Given the description of an element on the screen output the (x, y) to click on. 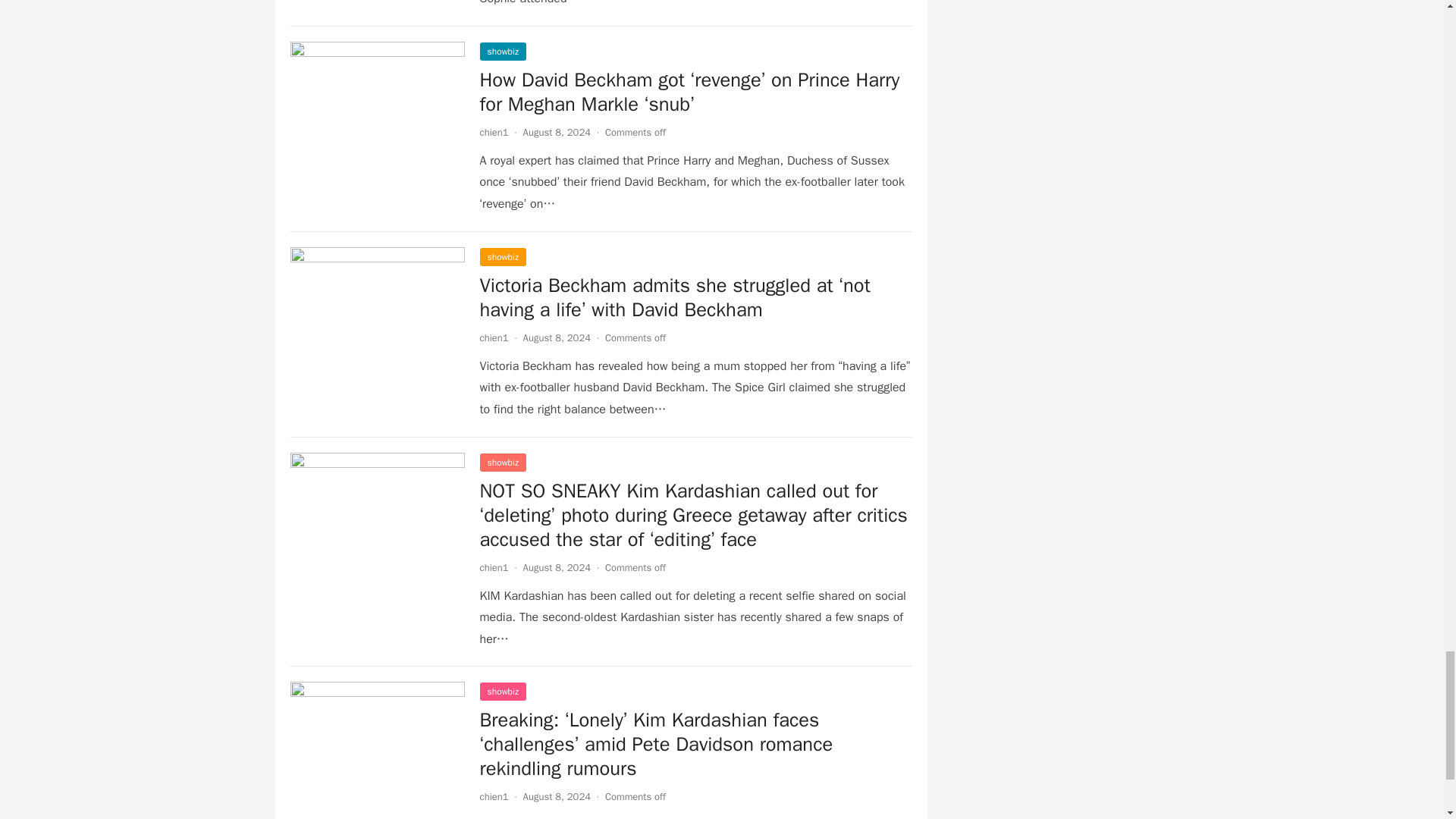
showbiz (502, 51)
Posts by chien1 (493, 132)
Posts by chien1 (493, 567)
Posts by chien1 (493, 796)
Posts by chien1 (493, 337)
